Given the description of an element on the screen output the (x, y) to click on. 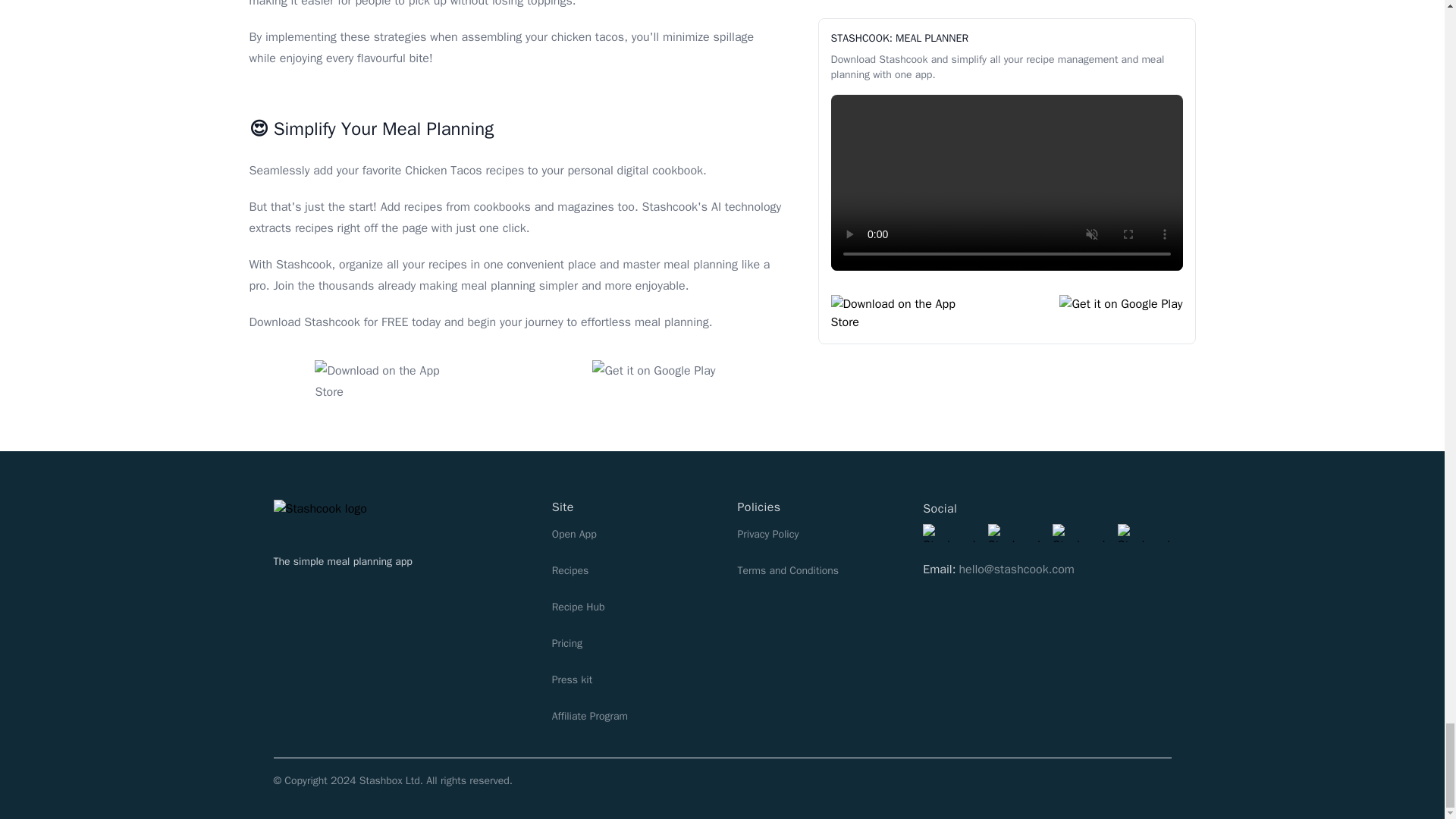
Recipes (629, 606)
Stashcook (338, 517)
Pricing (629, 642)
Recipes (629, 569)
Press kit (629, 678)
Terms and Conditions (814, 569)
Privacy Policy (814, 533)
Affiliate Program (629, 714)
Open Stashcook Web App (629, 533)
Stashcook email address (1016, 569)
